Given the description of an element on the screen output the (x, y) to click on. 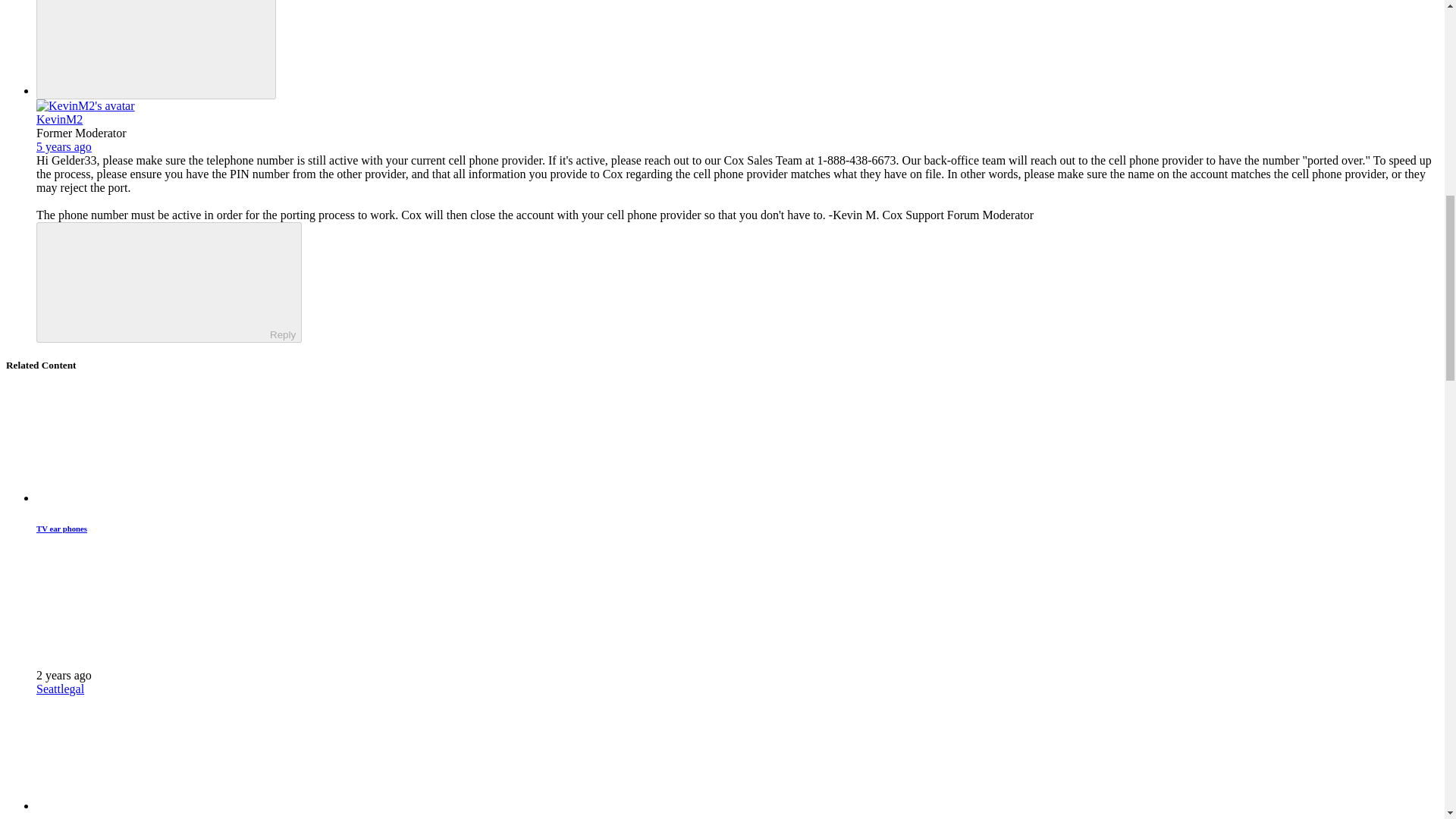
Reply (155, 281)
KevinM2 (59, 119)
5 years ago (63, 146)
Seattlegal (60, 688)
ReplyReply (168, 282)
TV ear phones (61, 528)
February 4, 2020 at 11:43 AM (63, 146)
March 1, 2023 at 8:51 PM (63, 675)
